Given the description of an element on the screen output the (x, y) to click on. 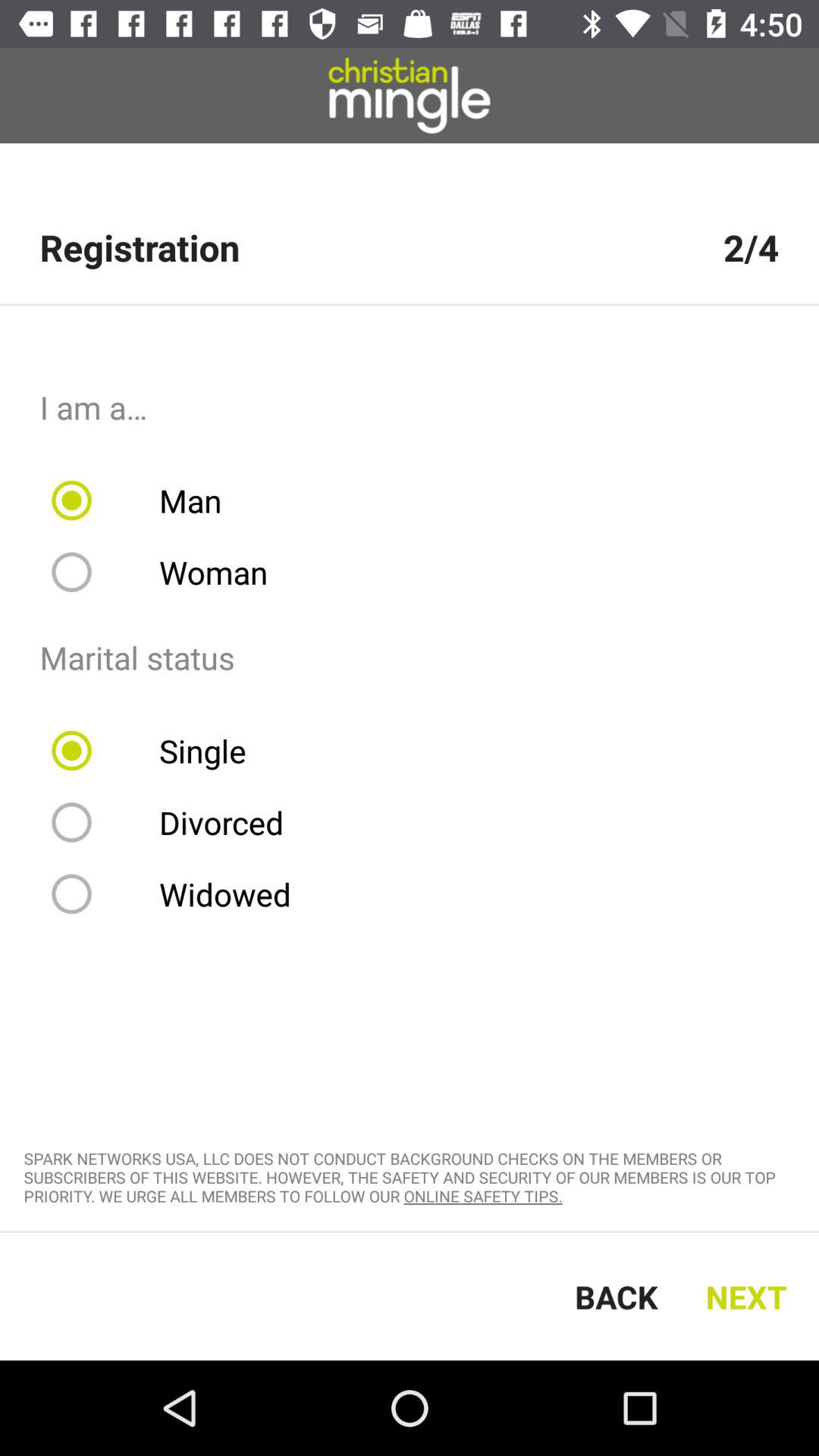
jump until the single item (158, 750)
